Given the description of an element on the screen output the (x, y) to click on. 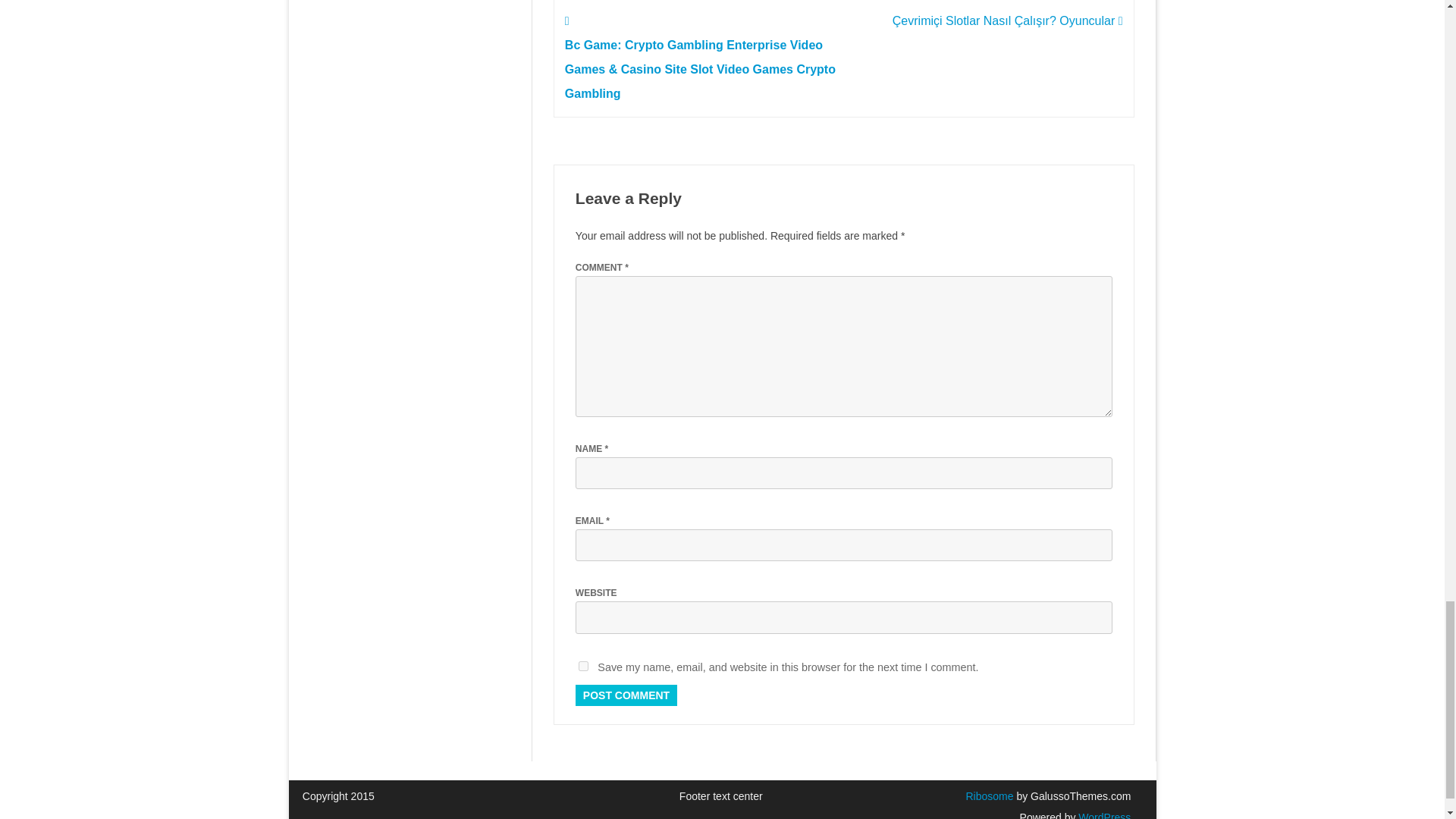
Post Comment (626, 694)
yes (583, 665)
